Given the description of an element on the screen output the (x, y) to click on. 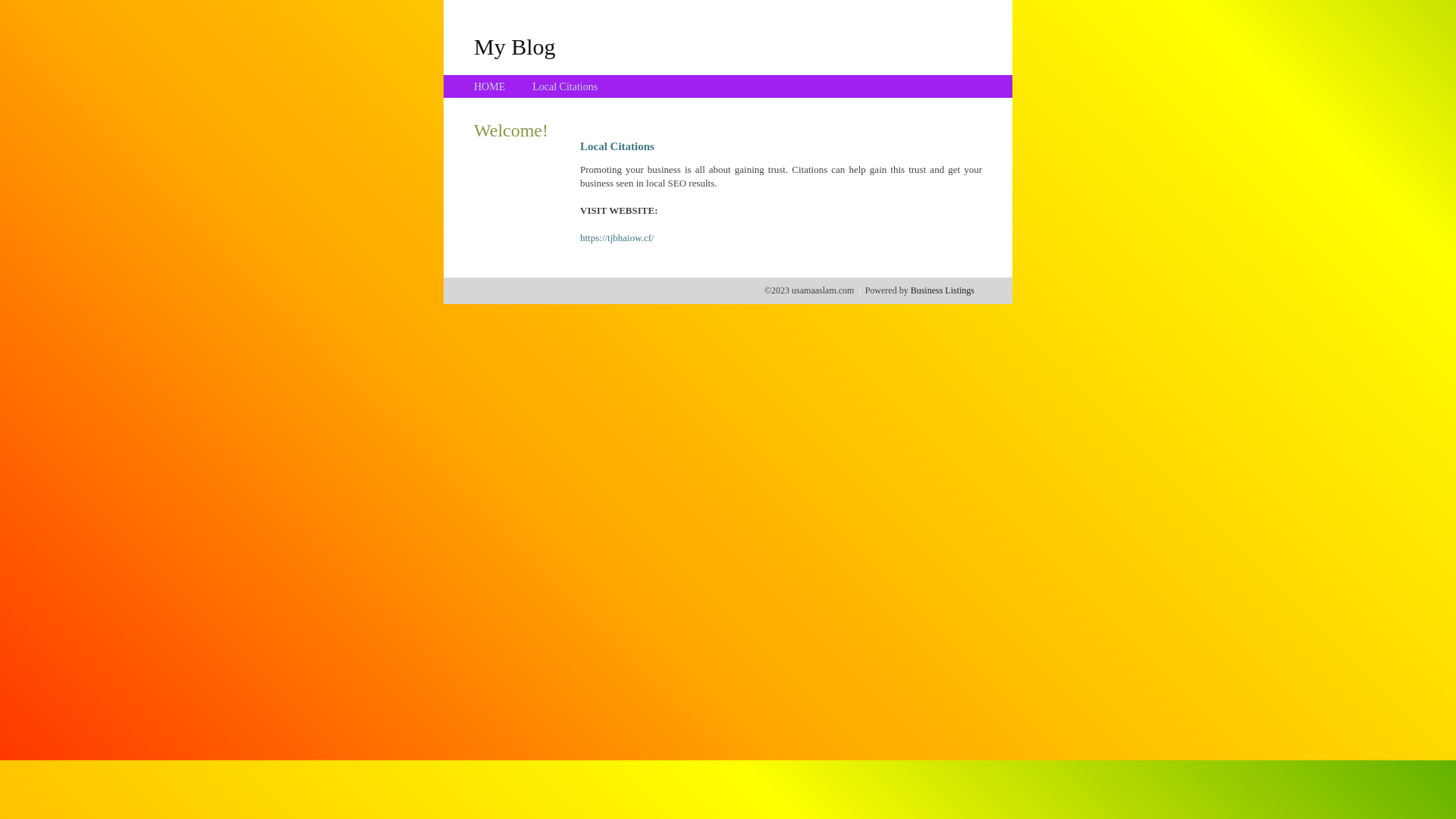
https://tjbhaiow.cf/ Element type: text (617, 237)
My Blog Element type: text (514, 46)
HOME Element type: text (489, 86)
Local Citations Element type: text (564, 86)
Business Listings Element type: text (942, 290)
